Given the description of an element on the screen output the (x, y) to click on. 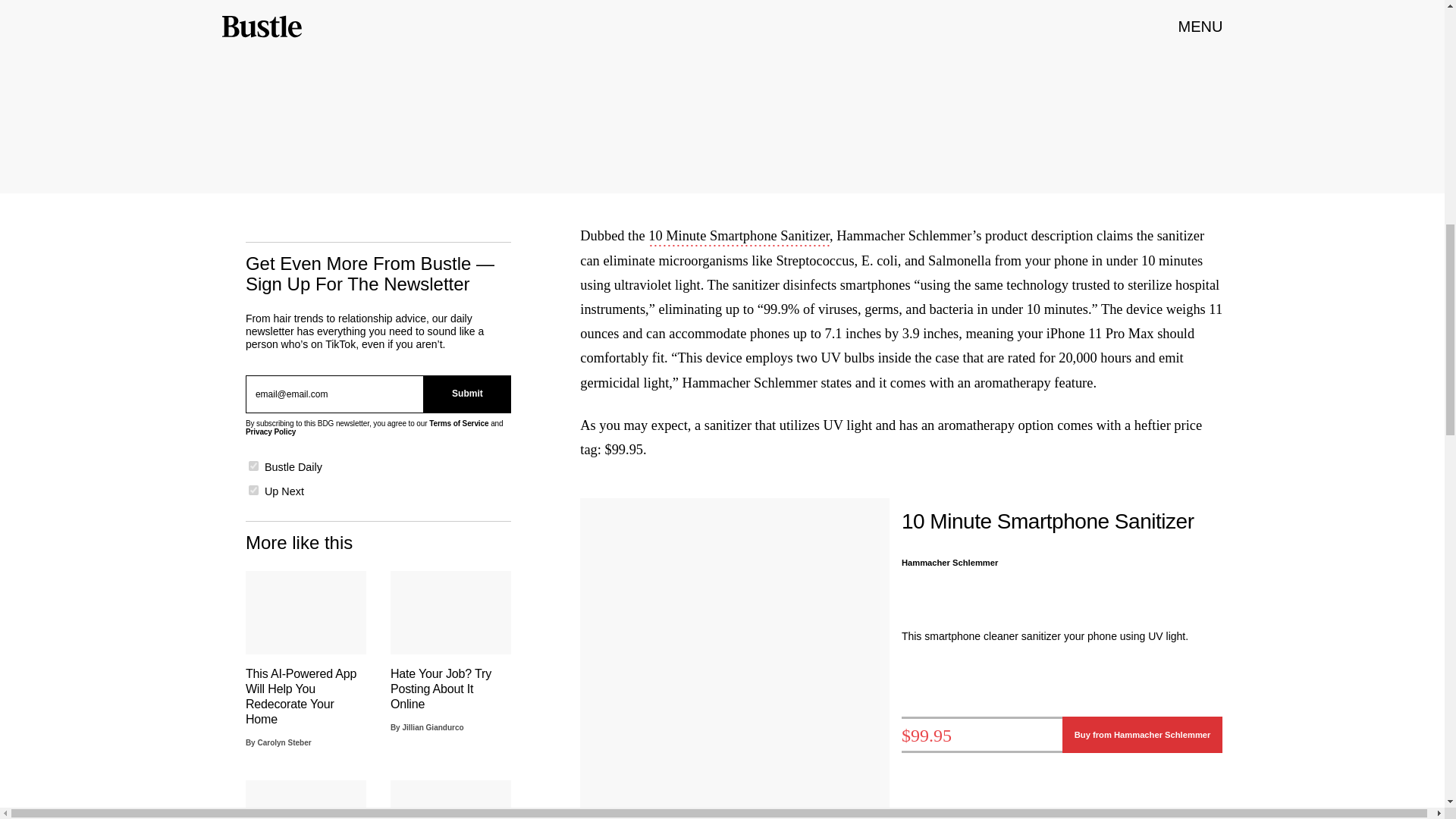
Privacy Policy (270, 431)
Submit (467, 394)
10 Minute Smartphone Sanitizer (738, 237)
Buy from Hammacher Schlemmer (1142, 734)
Terms of Service (458, 423)
